Given the description of an element on the screen output the (x, y) to click on. 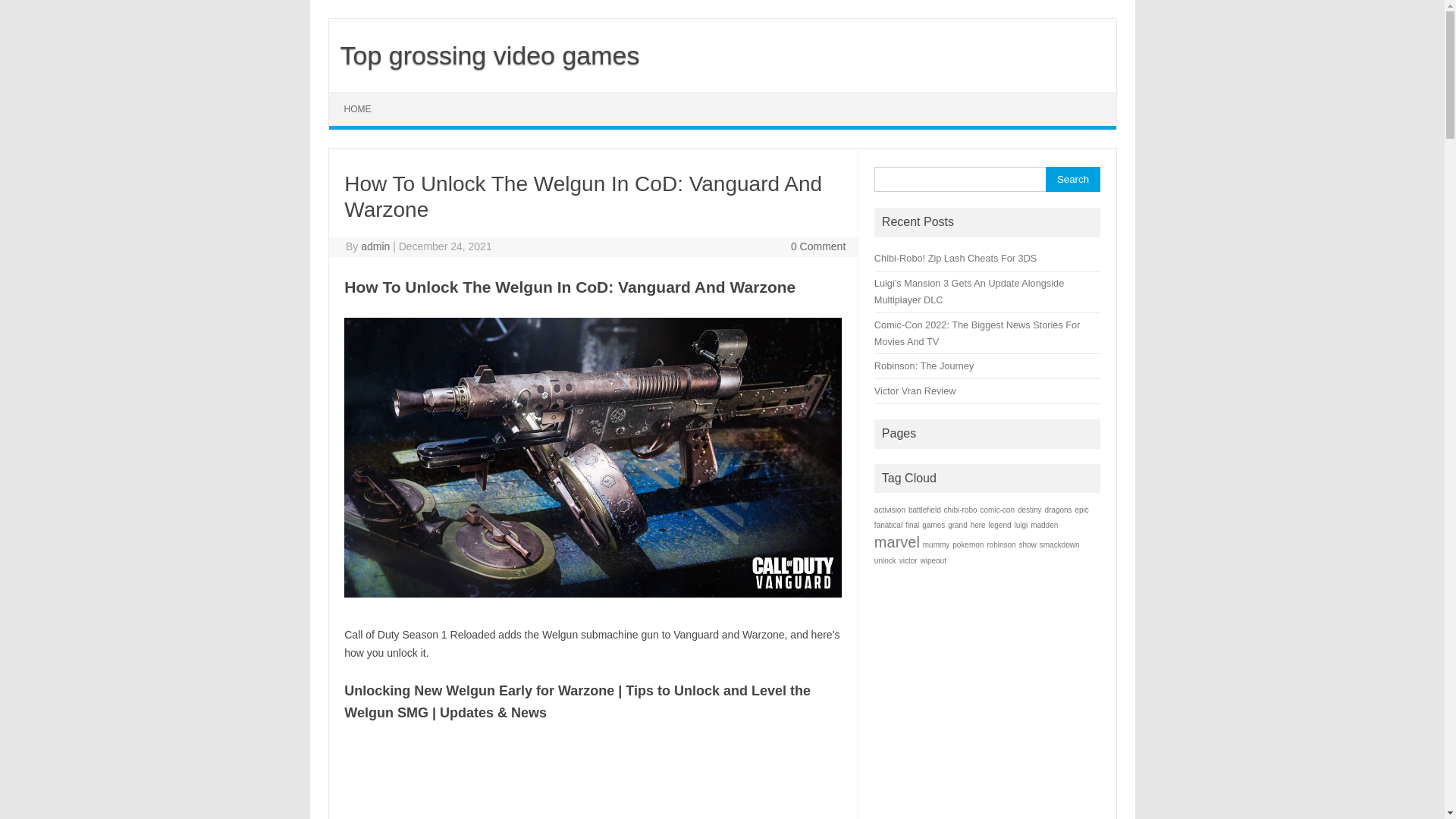
destiny Element type: text (1029, 509)
victor Element type: text (908, 560)
Robinson: The Journey Element type: text (923, 365)
Chibi-Robo! Zip Lash Cheats For 3DS Element type: text (955, 257)
chibi-robo Element type: text (960, 509)
fanatical Element type: text (888, 524)
Skip to content Element type: text (364, 96)
0 Comment Element type: text (817, 246)
final Element type: text (912, 524)
madden Element type: text (1043, 524)
robinson Element type: text (1000, 544)
luigi Element type: text (1020, 524)
wipeout Element type: text (932, 560)
unlock Element type: text (885, 560)
Top grossing video games Element type: text (484, 54)
comic-con Element type: text (996, 509)
mummy Element type: text (936, 544)
Comic-Con 2022: The Biggest News Stories For Movies And TV Element type: text (977, 333)
grand Element type: text (957, 524)
here Element type: text (977, 524)
activision Element type: text (889, 509)
Victor Vran Review Element type: text (915, 390)
admin Element type: text (374, 246)
legend Element type: text (999, 524)
Search Element type: text (1072, 178)
battlefield Element type: text (924, 509)
epic Element type: text (1081, 509)
marvel Element type: text (896, 541)
dragons Element type: text (1057, 509)
show Element type: text (1027, 544)
smackdown Element type: text (1059, 544)
games Element type: text (933, 524)
HOME Element type: text (357, 108)
pokemon Element type: text (967, 544)
